Given the description of an element on the screen output the (x, y) to click on. 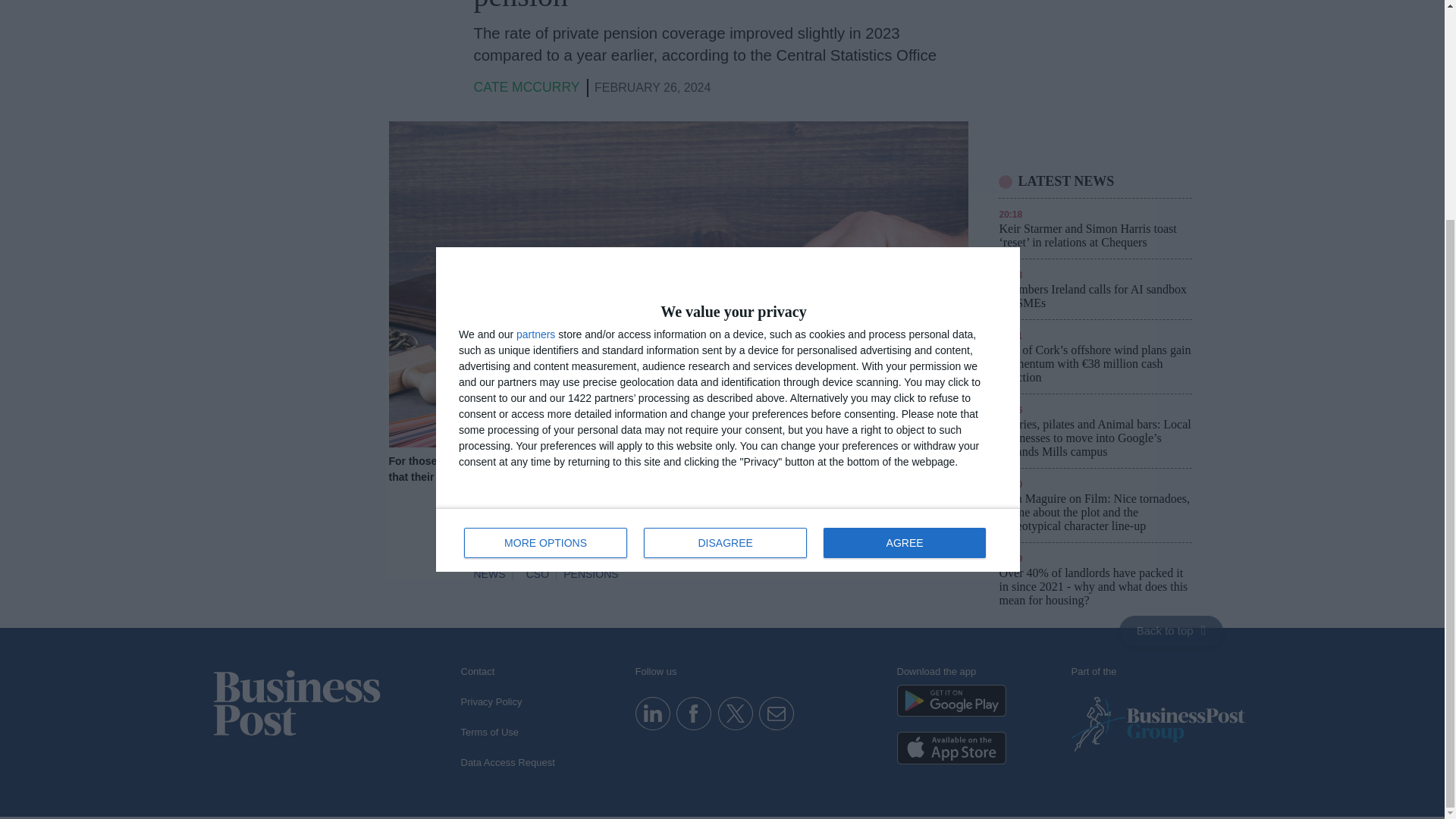
Twitter (735, 712)
DISAGREE (724, 251)
Linkedin (652, 712)
AGREE (904, 251)
Facebook (693, 712)
Email (775, 712)
MORE OPTIONS (545, 251)
partners (727, 248)
